Given the description of an element on the screen output the (x, y) to click on. 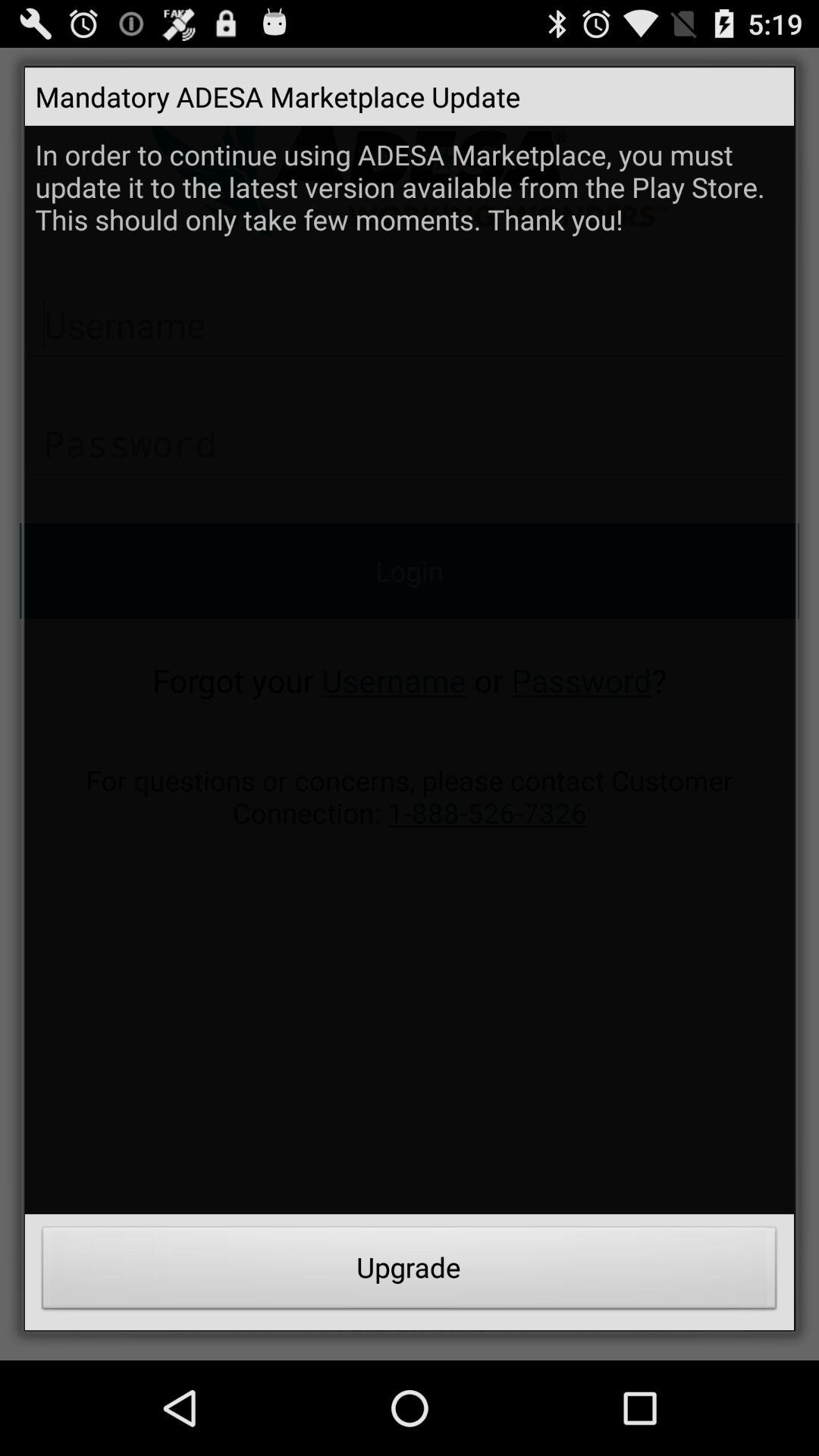
select the app below the in order to (409, 1272)
